Given the description of an element on the screen output the (x, y) to click on. 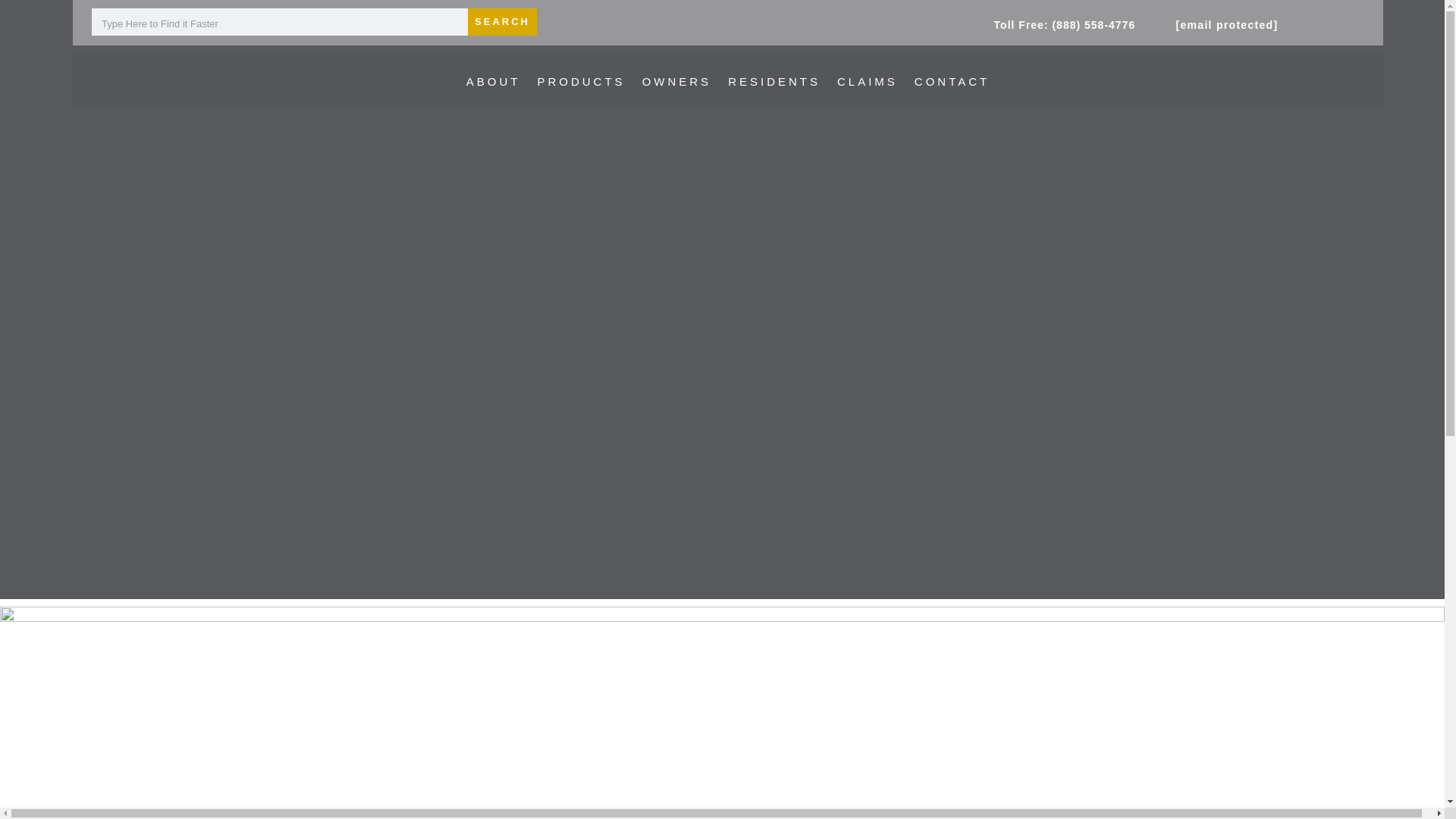
Search (502, 22)
CLAIMS (867, 81)
ABOUT (493, 81)
Search (502, 22)
PRODUCTS (580, 81)
RESIDENTS (774, 81)
Search (502, 22)
CONTACT (952, 81)
OWNERS (676, 81)
